Given the description of an element on the screen output the (x, y) to click on. 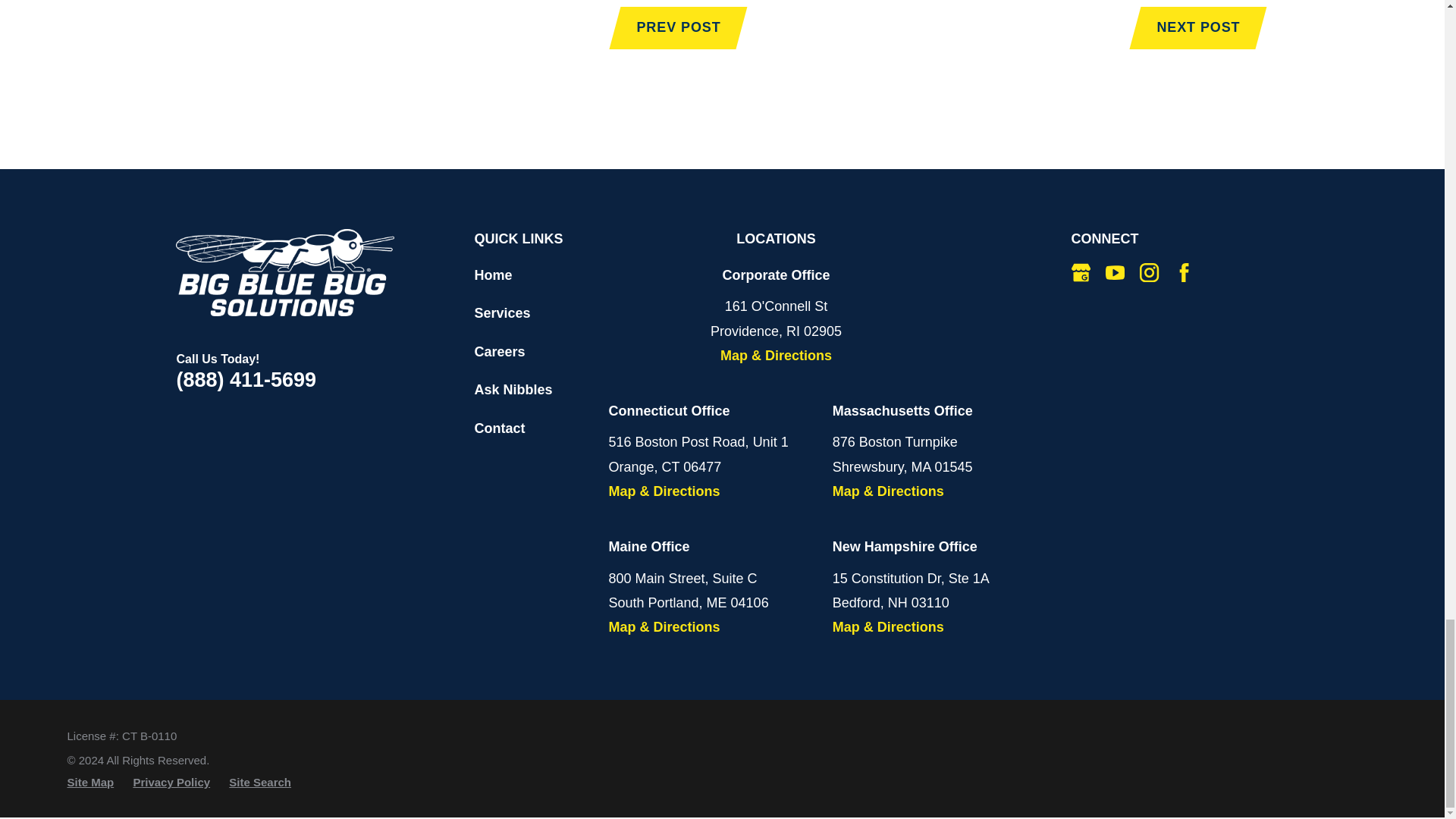
YouTube (1114, 271)
Home (285, 272)
Google Business Profile (1080, 271)
Instagram (1149, 271)
